Given the description of an element on the screen output the (x, y) to click on. 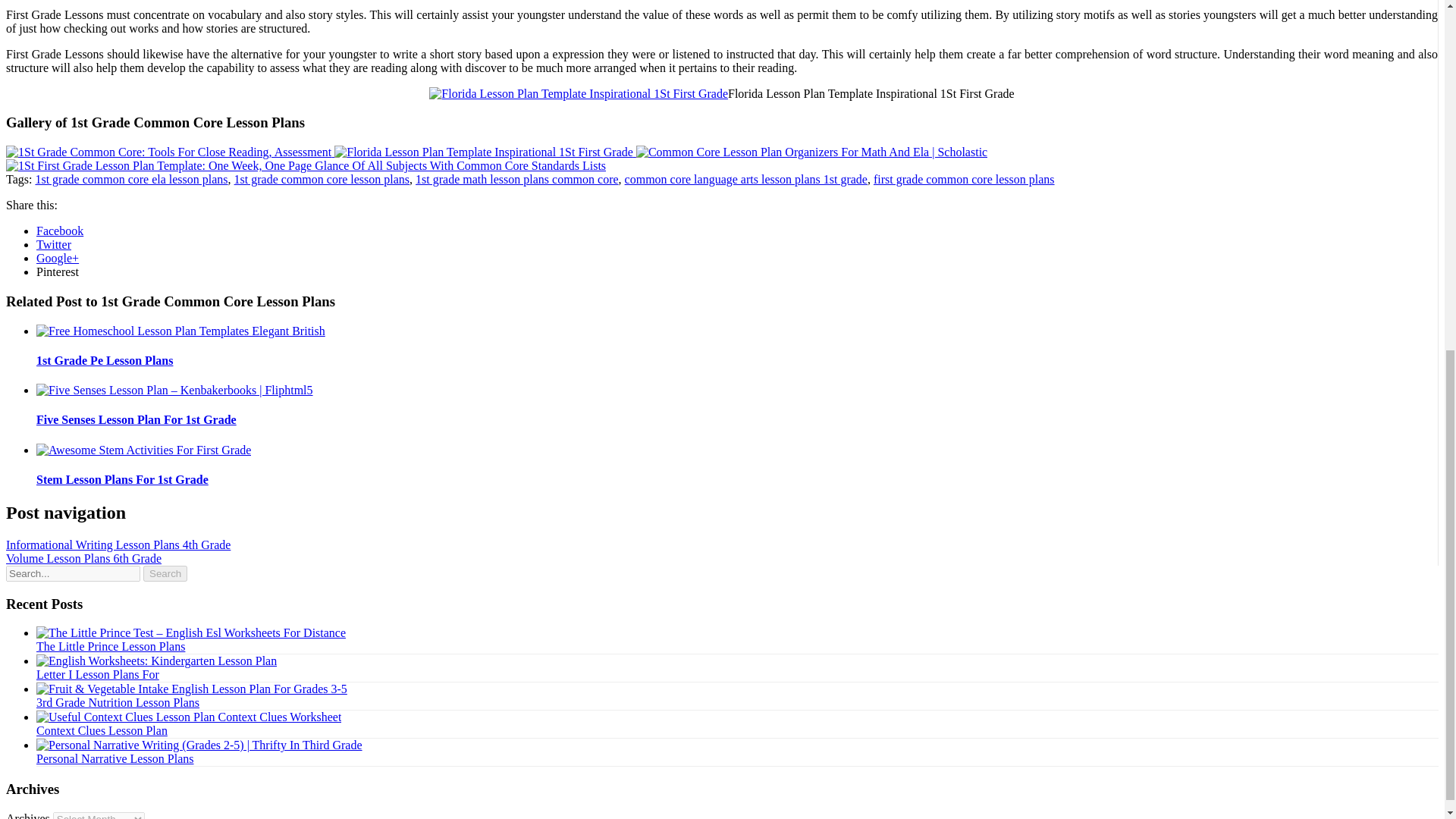
1st grade common core ela lesson plans (130, 178)
Five Senses Lesson Plan For 1st Grade (135, 419)
1st Grade Pe Lesson Plans (104, 359)
Search (164, 573)
first grade common core lesson plans (963, 178)
common core language arts lesson plans 1st grade (745, 178)
Florida Lesson Plan Template Inspirational 1St First Grade (485, 151)
1St Grade Common Core: Tools For Close Reading, Assessment (168, 151)
Search (164, 573)
1st Grade Pe Lesson Plans (104, 359)
Five Senses Lesson Plan For 1st Grade (135, 419)
Facebook (59, 230)
Florida Lesson Plan Template Inspirational 1St First Grade (483, 151)
